Given the description of an element on the screen output the (x, y) to click on. 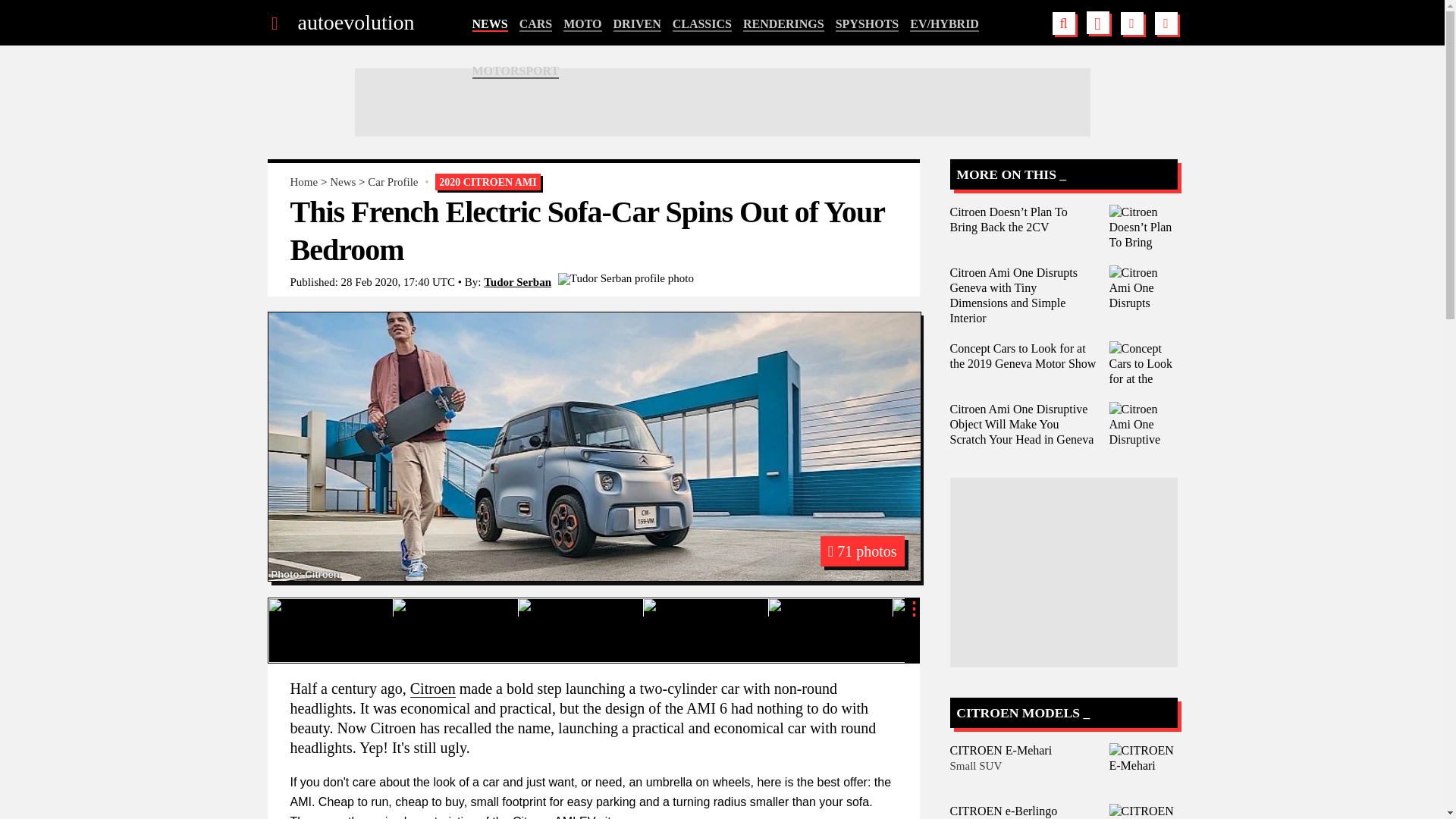
autoevolution (355, 22)
CLASSICS (702, 24)
Car Profile (392, 182)
DRIVEN (636, 24)
NEWS (488, 24)
News (342, 182)
CARS (536, 24)
RENDERINGS (783, 24)
MOTORSPORT (515, 71)
Home (303, 182)
